Given the description of an element on the screen output the (x, y) to click on. 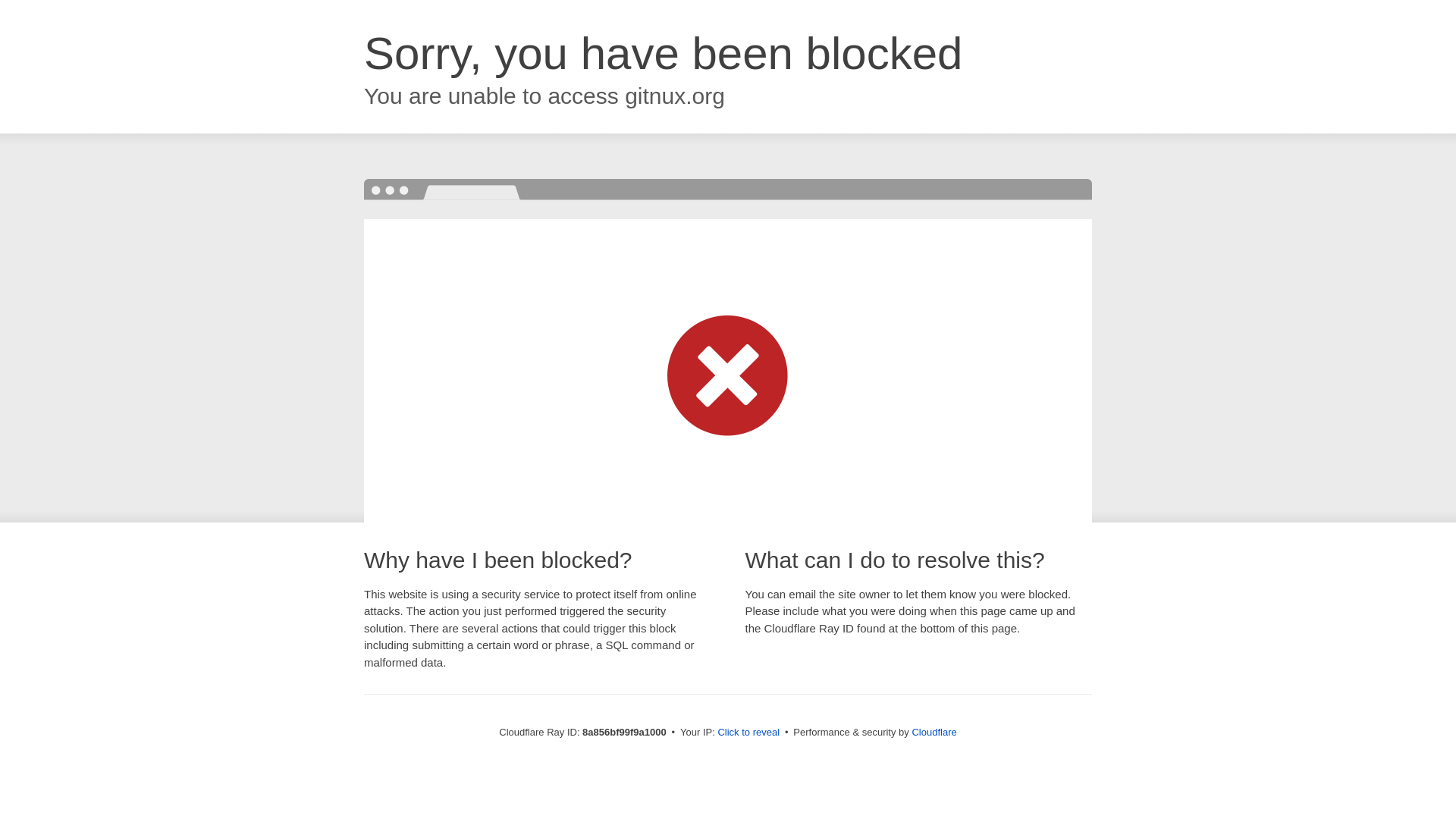
Cloudflare (933, 731)
Click to reveal (747, 732)
